Given the description of an element on the screen output the (x, y) to click on. 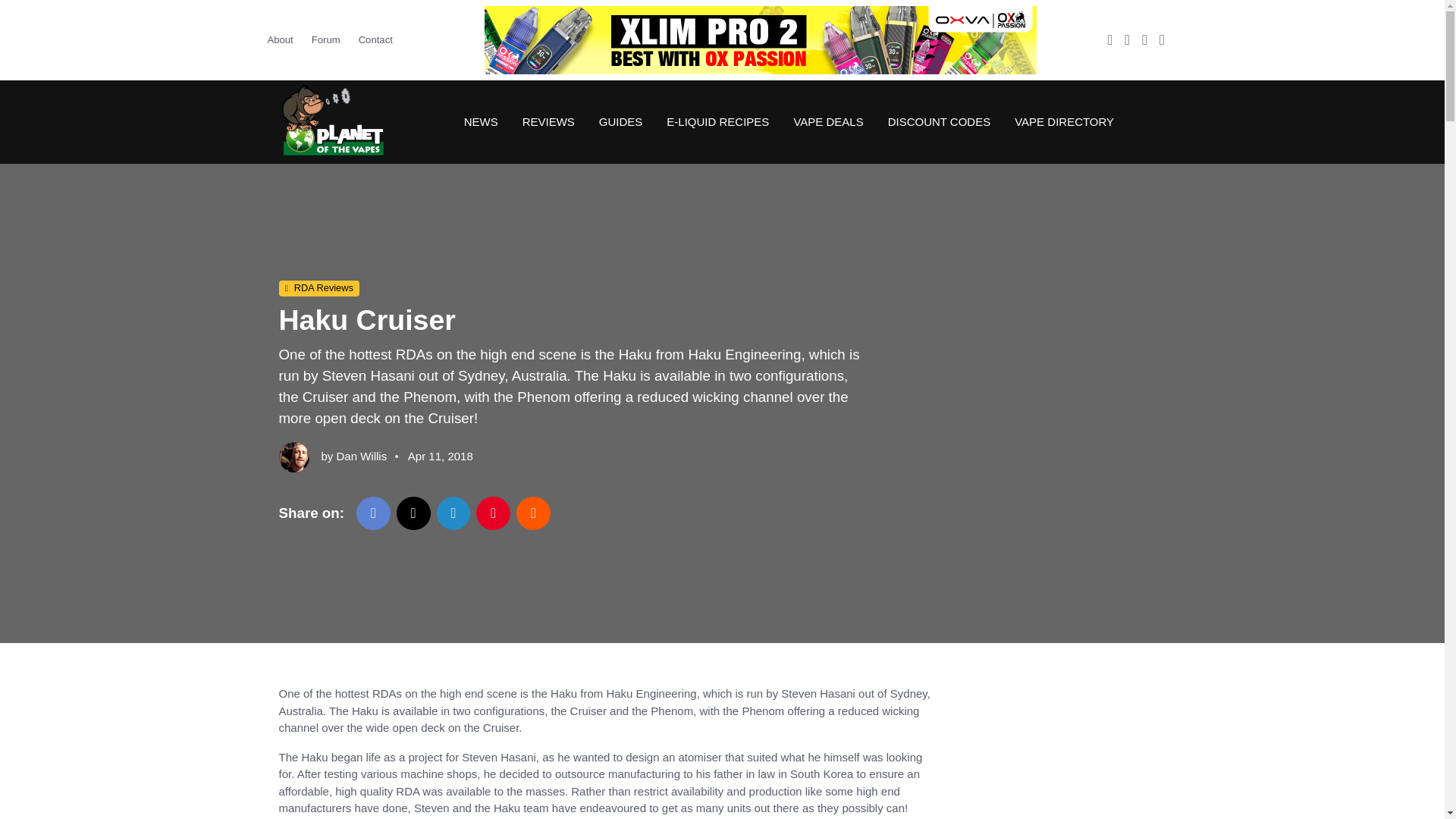
NEWS (481, 121)
E-LIQUID RECIPES (716, 121)
VAPE DIRECTORY (1058, 121)
Contact (375, 39)
VAPE DEALS (827, 121)
RDA Reviews (319, 288)
Dan Willis (361, 455)
REVIEWS (548, 121)
DISCOUNT CODES (939, 121)
Forum (325, 39)
